Given the description of an element on the screen output the (x, y) to click on. 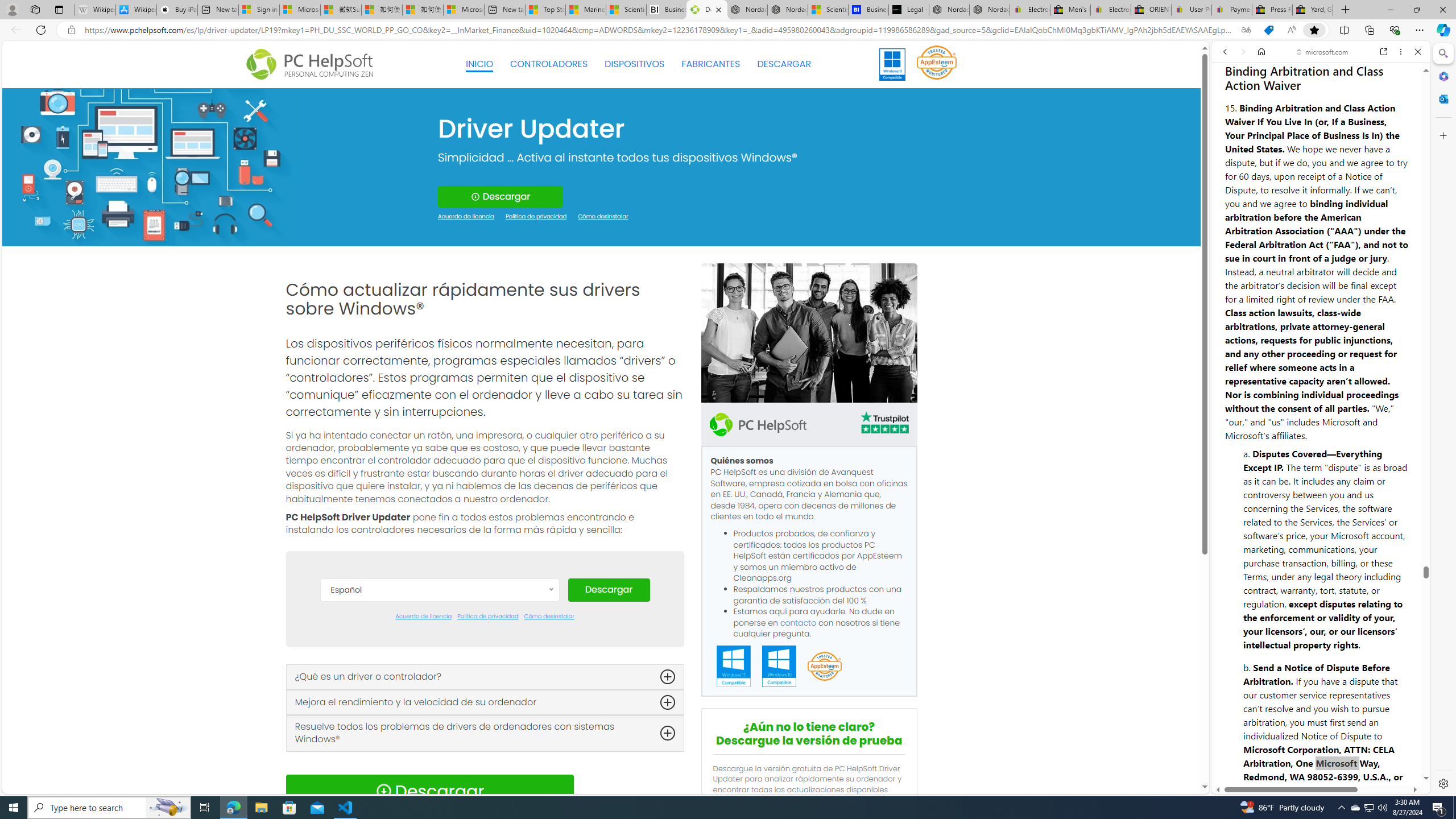
Dansk (439, 643)
Nederlands (439, 763)
FABRICANTES (711, 64)
